Given the description of an element on the screen output the (x, y) to click on. 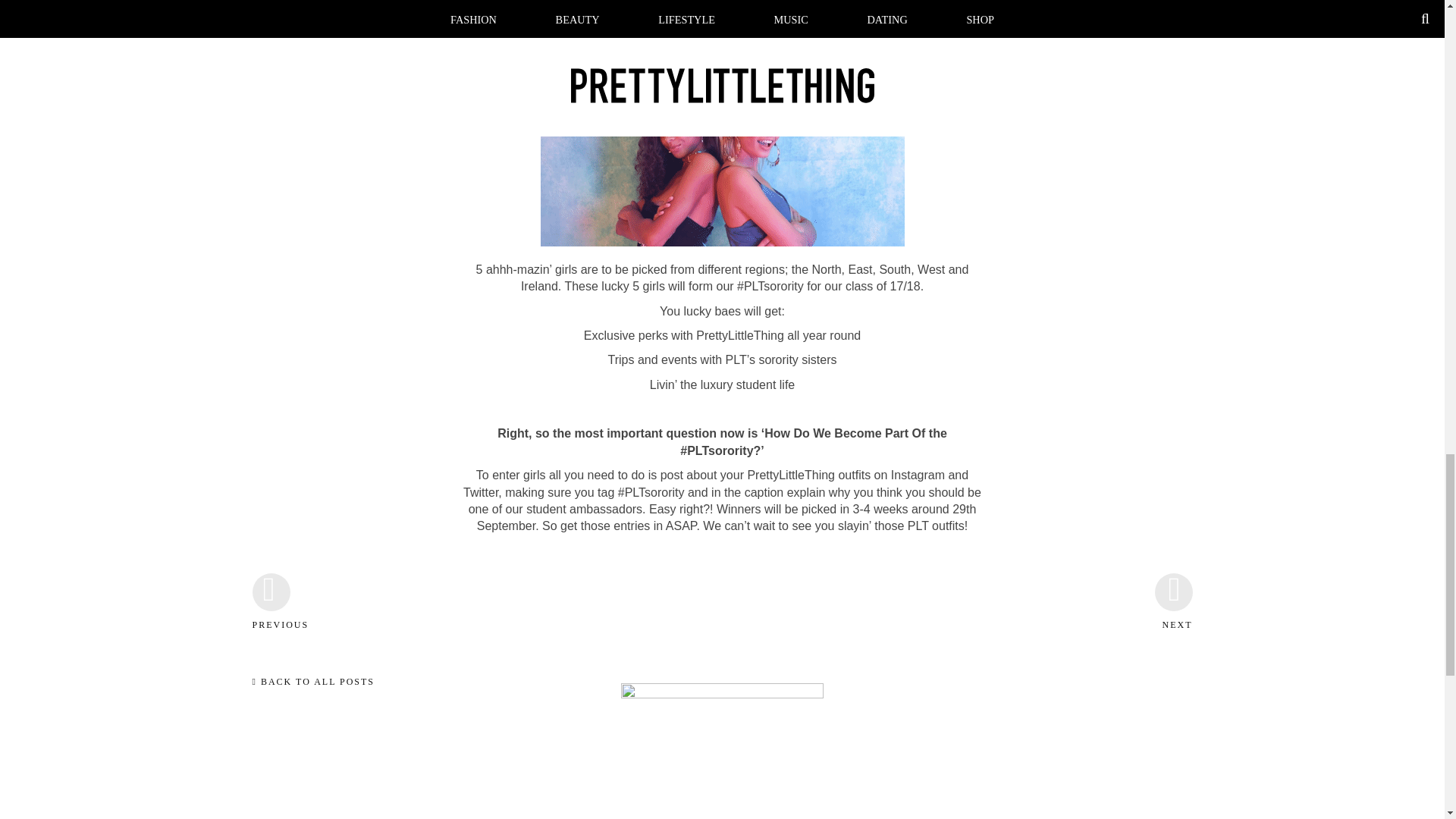
PREVIOUS (270, 637)
NEXT (1173, 637)
BACK TO ALL POSTS (312, 681)
